Given the description of an element on the screen output the (x, y) to click on. 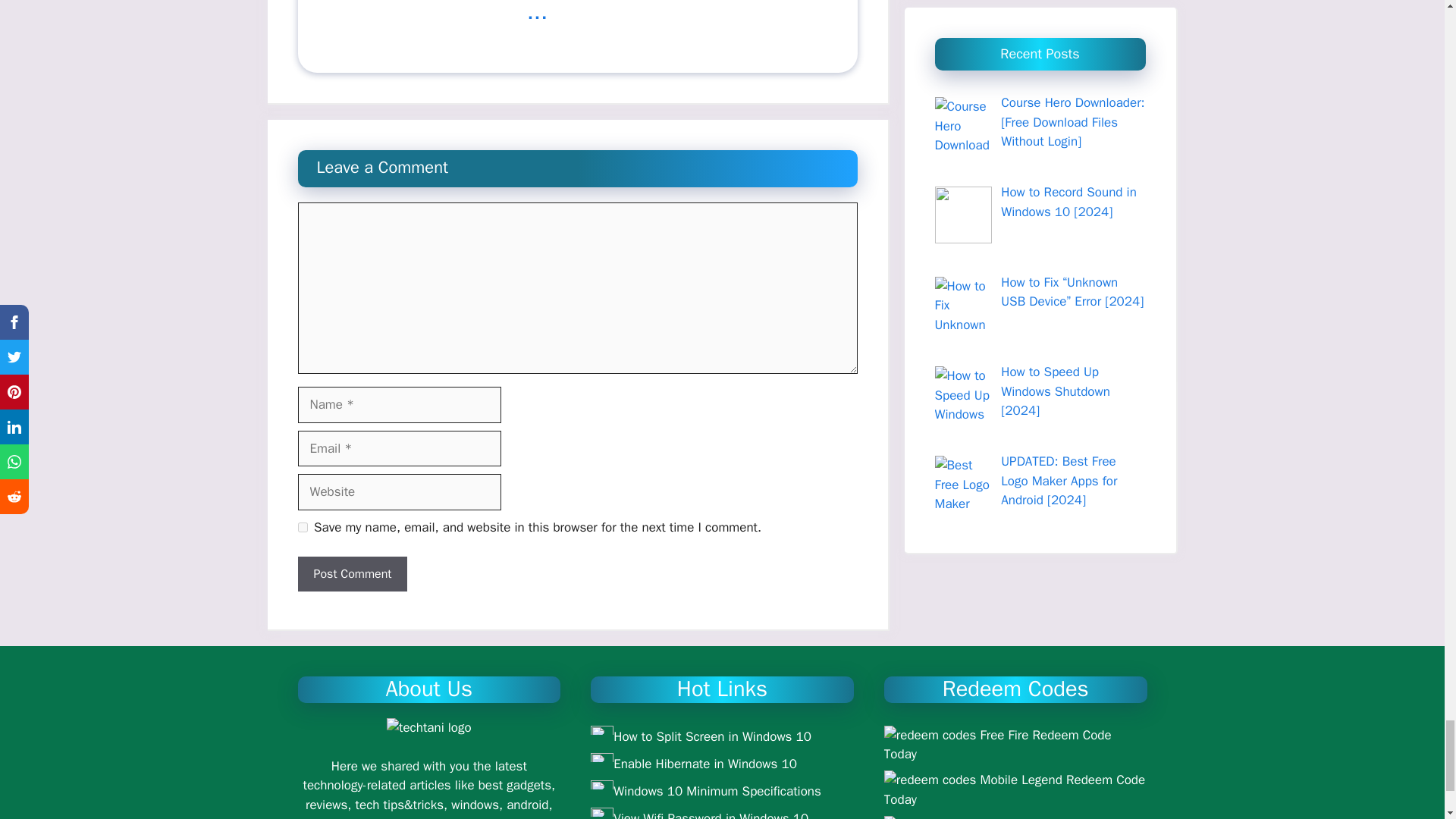
Post Comment (352, 573)
Post Comment (352, 573)
yes (302, 527)
